Given the description of an element on the screen output the (x, y) to click on. 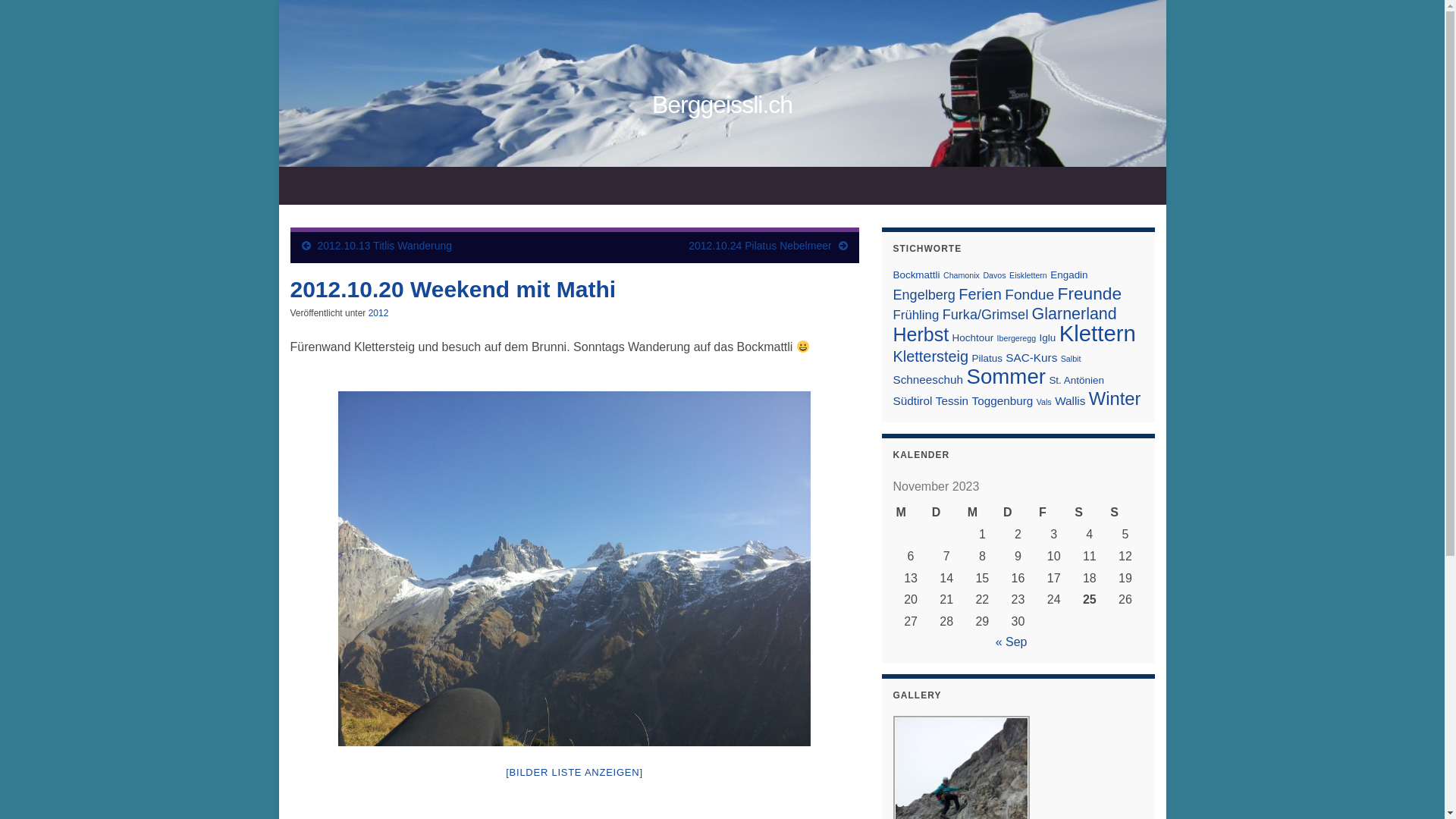
Salbit Element type: text (1070, 358)
Glarnerland Element type: text (1074, 313)
Engadin Element type: text (1068, 274)
Eisklettern Element type: text (1028, 274)
[BILDER LISTE ANZEIGEN] Element type: text (574, 772)
Ibergeregg Element type: text (1016, 337)
Toggenburg Element type: text (1002, 400)
2012.10.24 Pilatus Nebelmeer Element type: text (759, 245)
Sommer Element type: text (1005, 376)
Winter Element type: text (1114, 398)
Bockmattli Element type: text (916, 274)
Davos Element type: text (993, 274)
Hochtour Element type: text (973, 337)
SAC-Kurs Element type: text (1031, 357)
Schneeschuh Element type: text (928, 379)
Klettersteig Element type: text (931, 356)
Fondue Element type: text (1029, 294)
Chamonix Element type: text (961, 274)
Herbst Element type: text (921, 334)
Engelberg Element type: text (924, 294)
Wallis Element type: text (1069, 400)
2012 Element type: text (378, 312)
Freunde Element type: text (1089, 293)
Pilatus Element type: text (987, 358)
Iglu Element type: text (1047, 337)
Vals Element type: text (1043, 401)
Ferien Element type: text (979, 293)
Berggeissli.ch Element type: hover (722, 101)
Klettern Element type: text (1097, 332)
2012.10.13 Titlis Wanderung Element type: text (383, 245)
Berggeissli.ch Element type: text (722, 104)
Tessin Element type: text (951, 400)
Furka/Grimsel Element type: text (985, 314)
